Given the description of an element on the screen output the (x, y) to click on. 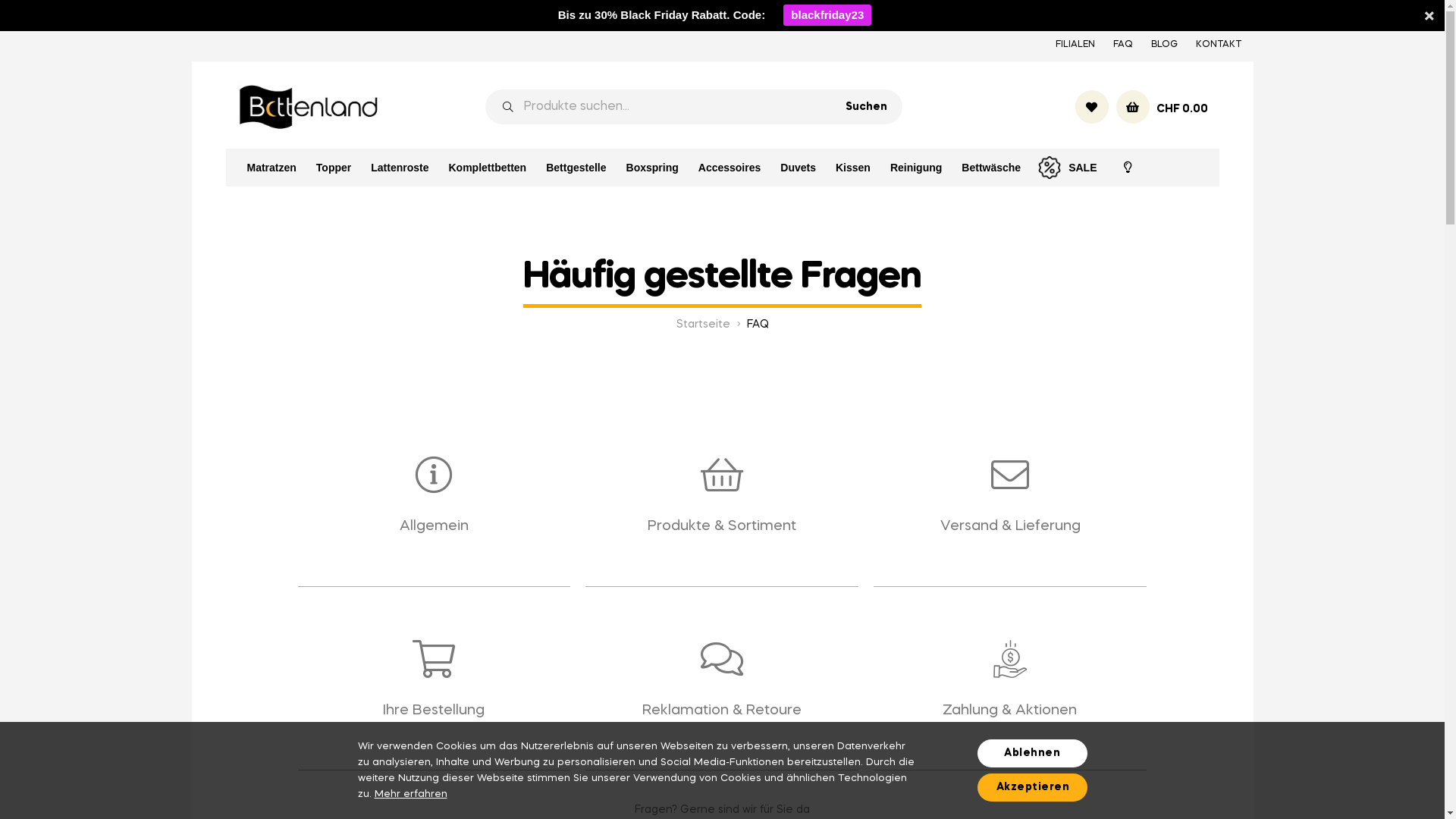
Mehr erfahren Element type: text (410, 794)
KONTAKT Element type: text (1217, 44)
blackfriday23 Element type: text (827, 14)
Ihre Bestellung Element type: text (433, 710)
Produkte & Sortiment Element type: text (721, 526)
Reklamation & Retoure Element type: text (721, 710)
FAQ Element type: text (1123, 44)
Bettgestelle Element type: text (575, 167)
Akzeptieren Element type: text (1031, 787)
Accessoires Element type: text (729, 167)
Komplettbetten Element type: text (487, 167)
FILIALEN Element type: text (1075, 44)
Zahlung & Aktionen Element type: text (1009, 710)
Topper Element type: text (333, 167)
Suchen Element type: text (869, 106)
Boxspring Element type: text (652, 167)
SALE Element type: text (1068, 167)
Lattenroste Element type: text (399, 167)
Allgemein Element type: text (433, 526)
Ablehnen Element type: text (1031, 753)
Reinigung Element type: text (915, 167)
BLOG Element type: text (1164, 44)
Versand & Lieferung Element type: text (1010, 526)
Startseite Element type: text (703, 324)
Kissen Element type: text (852, 167)
Duvets Element type: text (797, 167)
Matratzen Element type: text (270, 167)
